Given the description of an element on the screen output the (x, y) to click on. 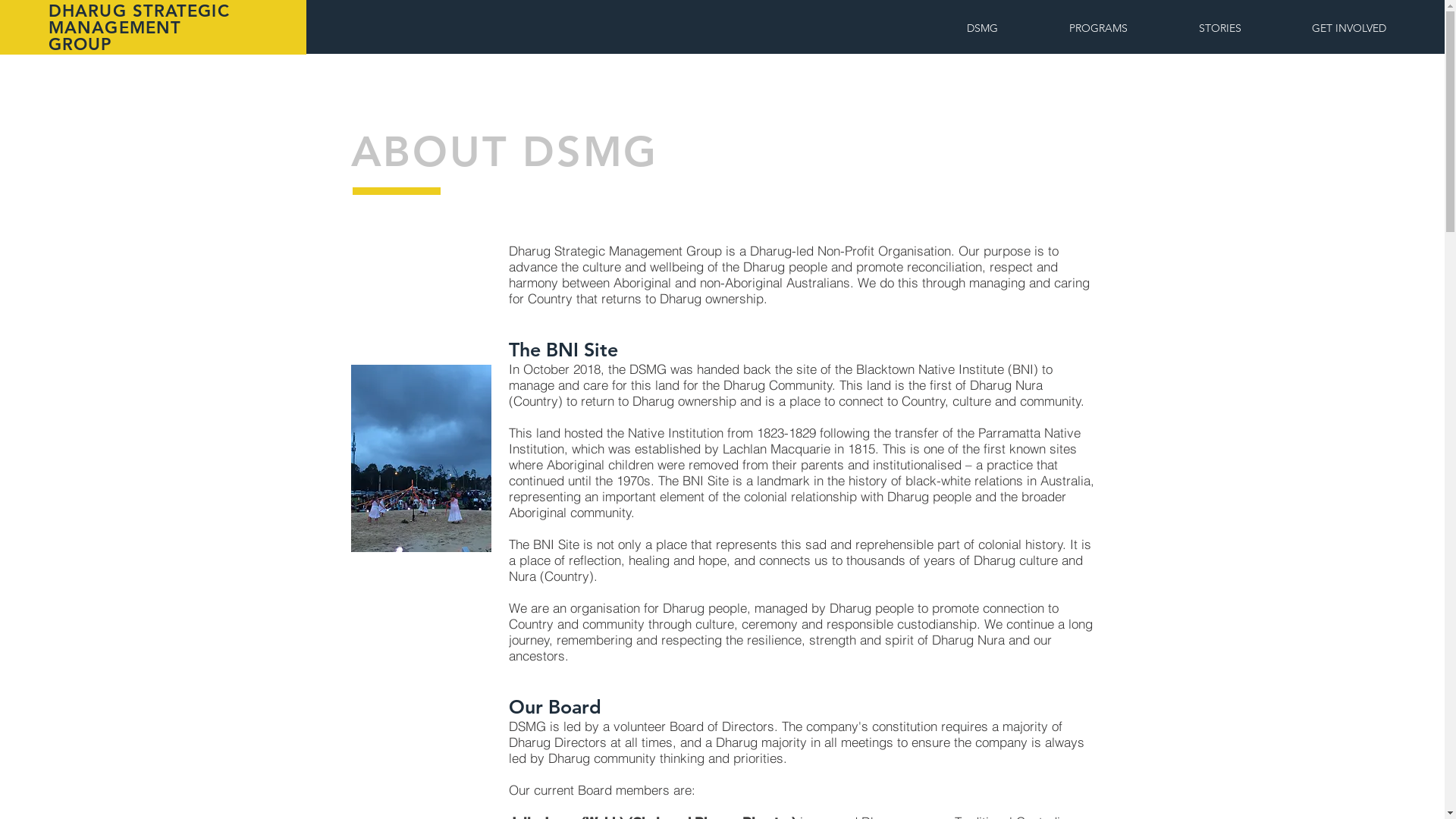
DSMG Element type: text (982, 28)
STORIES Element type: text (1219, 28)
GET INVOLVED Element type: text (1348, 28)
DHARUG STRATEGIC MANAGEMENT GROUP Element type: text (138, 27)
IMG_6432.jpg Element type: hover (420, 458)
PROGRAMS Element type: text (1098, 28)
